Given the description of an element on the screen output the (x, y) to click on. 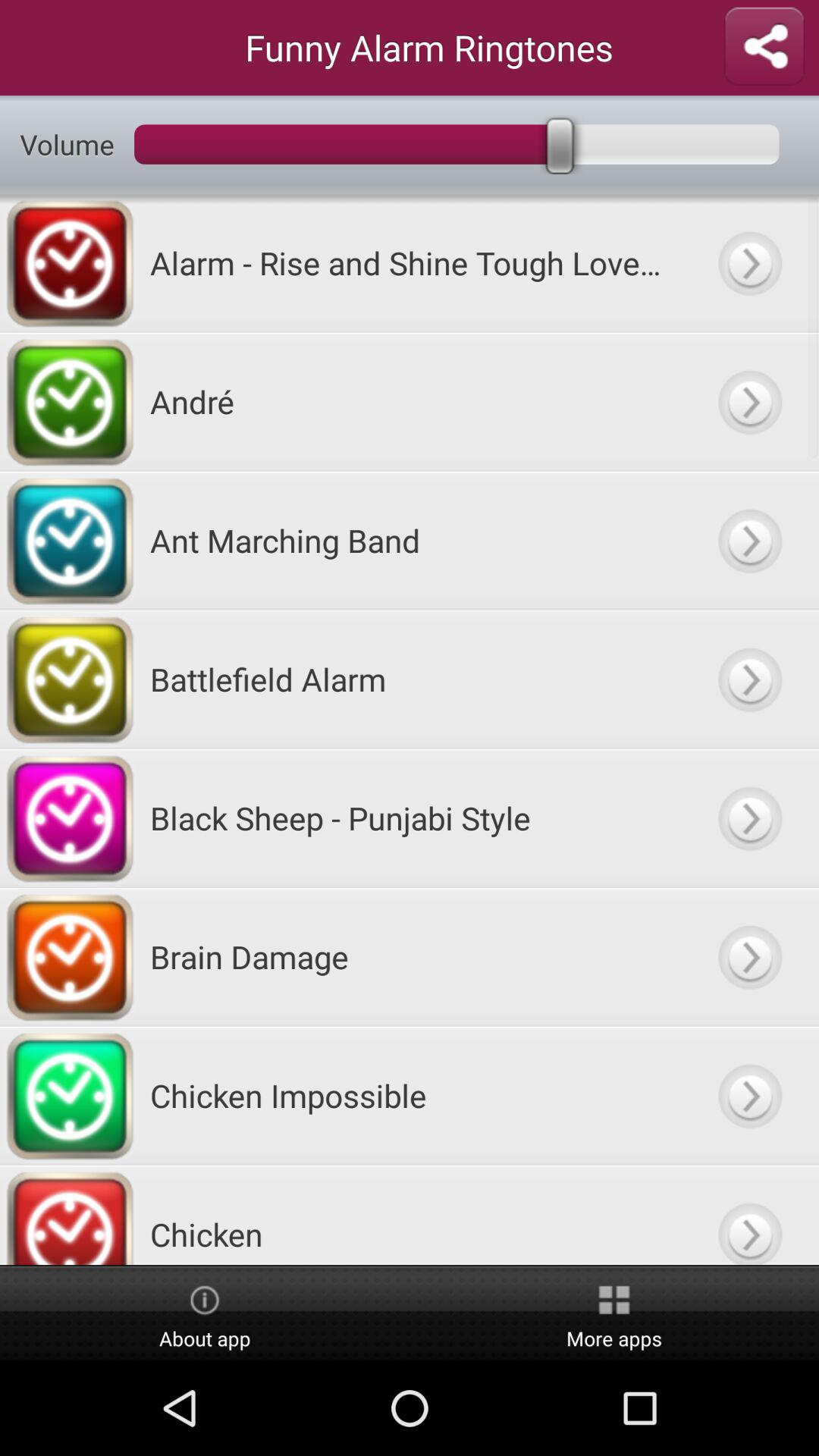
go back (749, 956)
